Given the description of an element on the screen output the (x, y) to click on. 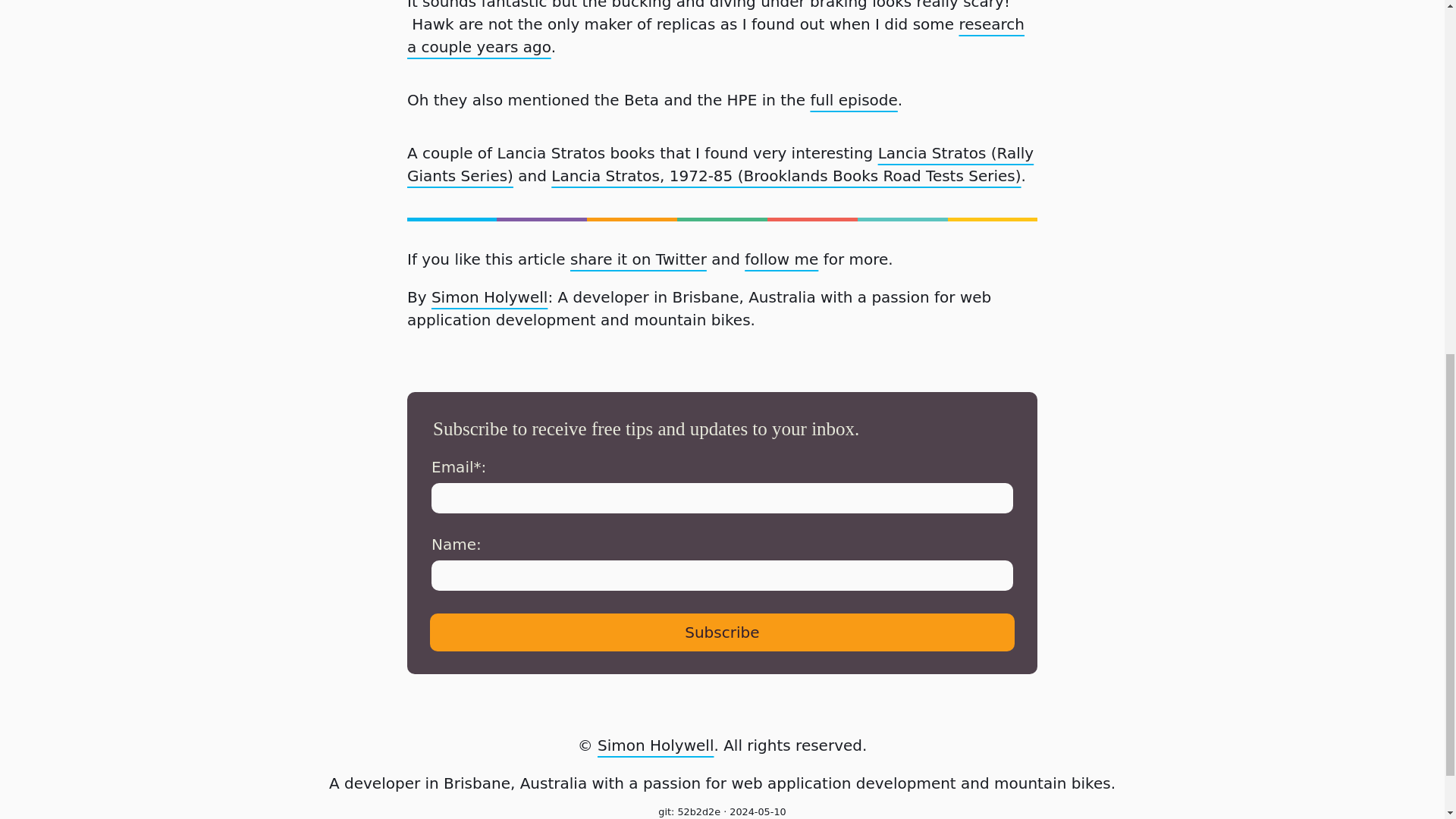
full episode (854, 99)
Simon Holywell (488, 297)
follow me (781, 259)
View author biography (488, 297)
Simon Holywell (654, 745)
share it on Twitter (638, 259)
research a couple years ago (716, 35)
Subscribe (721, 631)
